Given the description of an element on the screen output the (x, y) to click on. 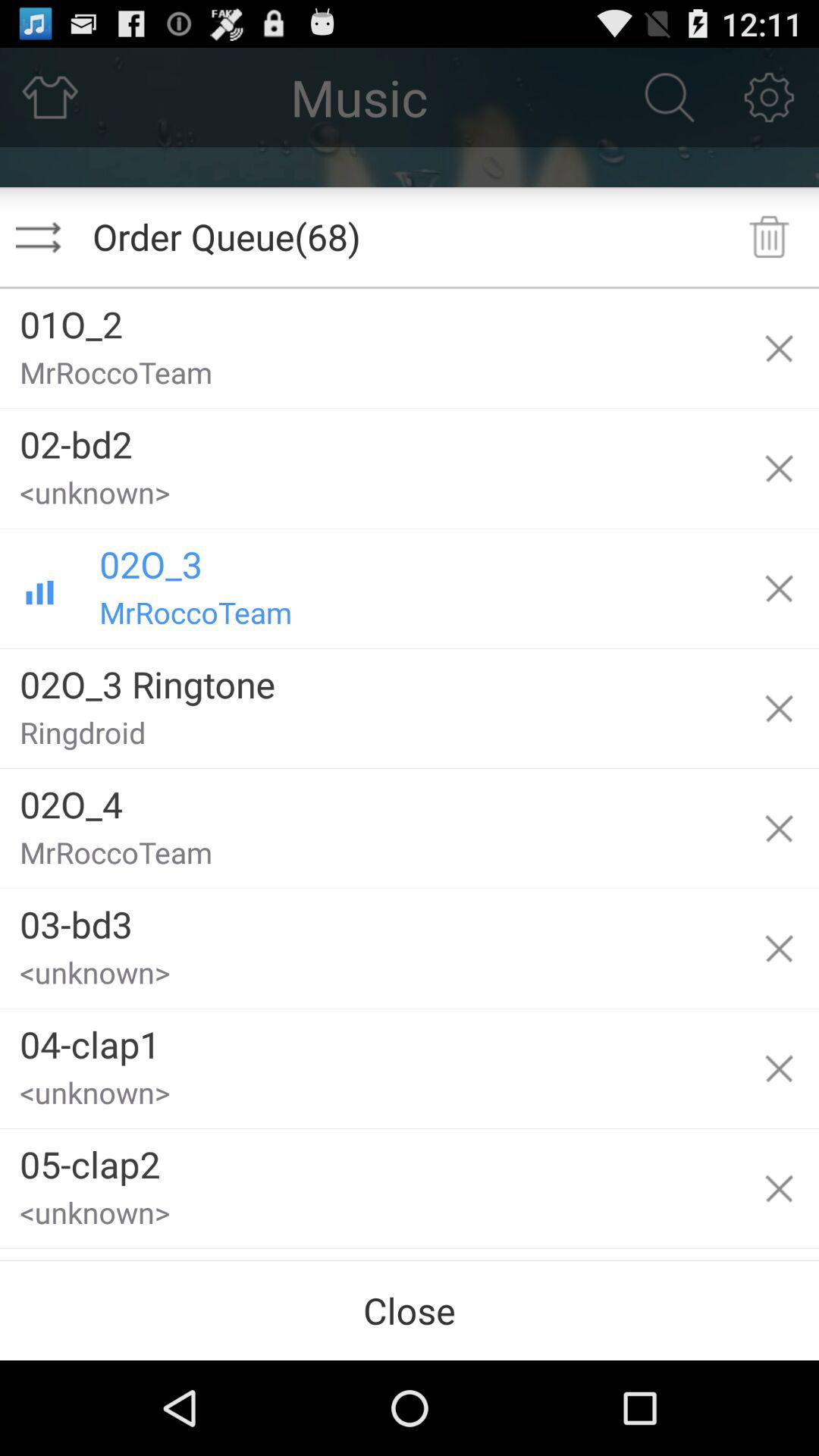
open the 05-clap2 icon (369, 1158)
